Given the description of an element on the screen output the (x, y) to click on. 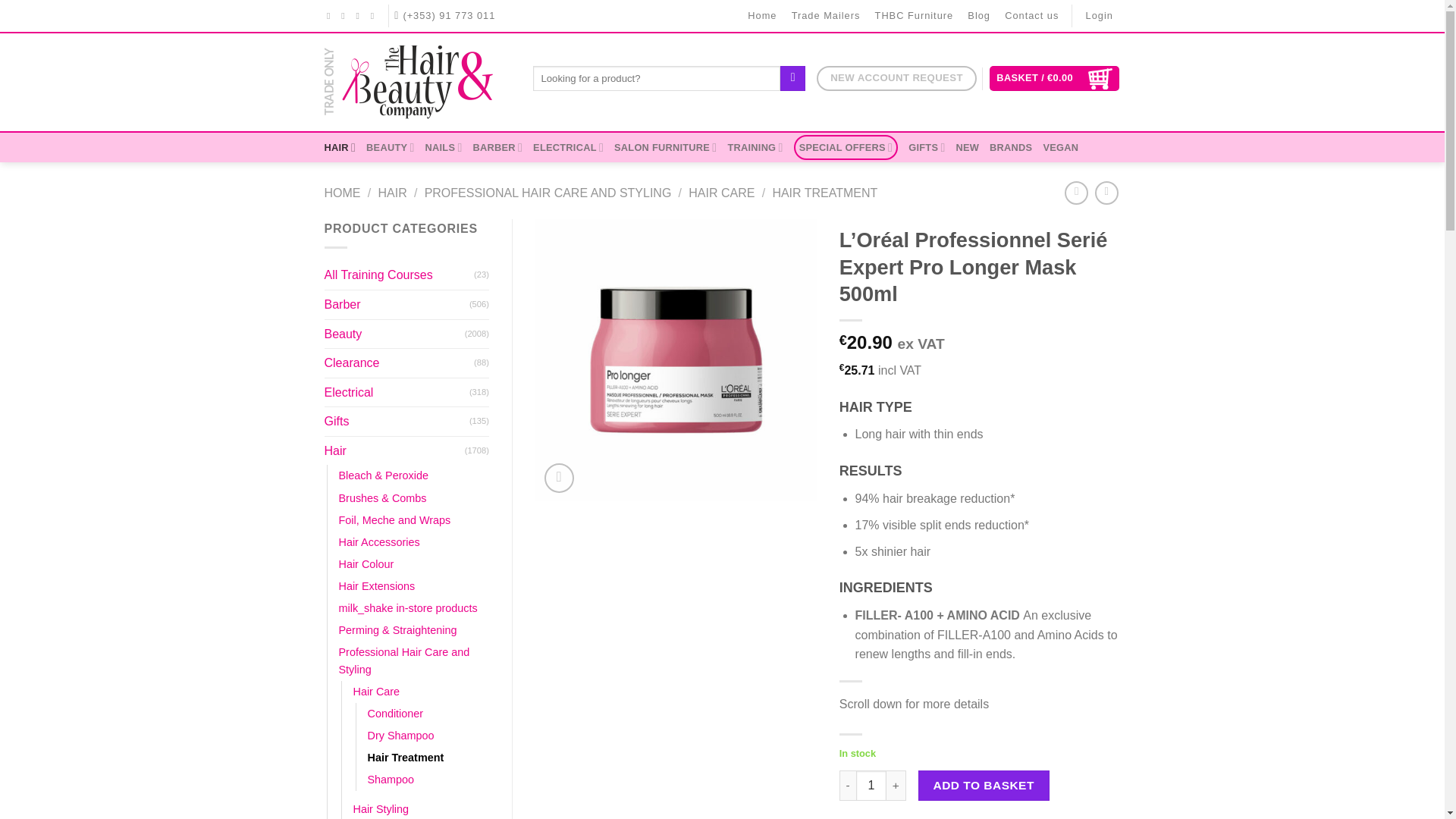
Search (792, 78)
Login (1099, 15)
Fill the form to get a trade access (895, 78)
Home (762, 15)
Login (1099, 15)
Zoom (558, 478)
Trade Mailers (825, 15)
Blog (978, 15)
THBC Furniture (913, 15)
Contact us (1031, 15)
